Given the description of an element on the screen output the (x, y) to click on. 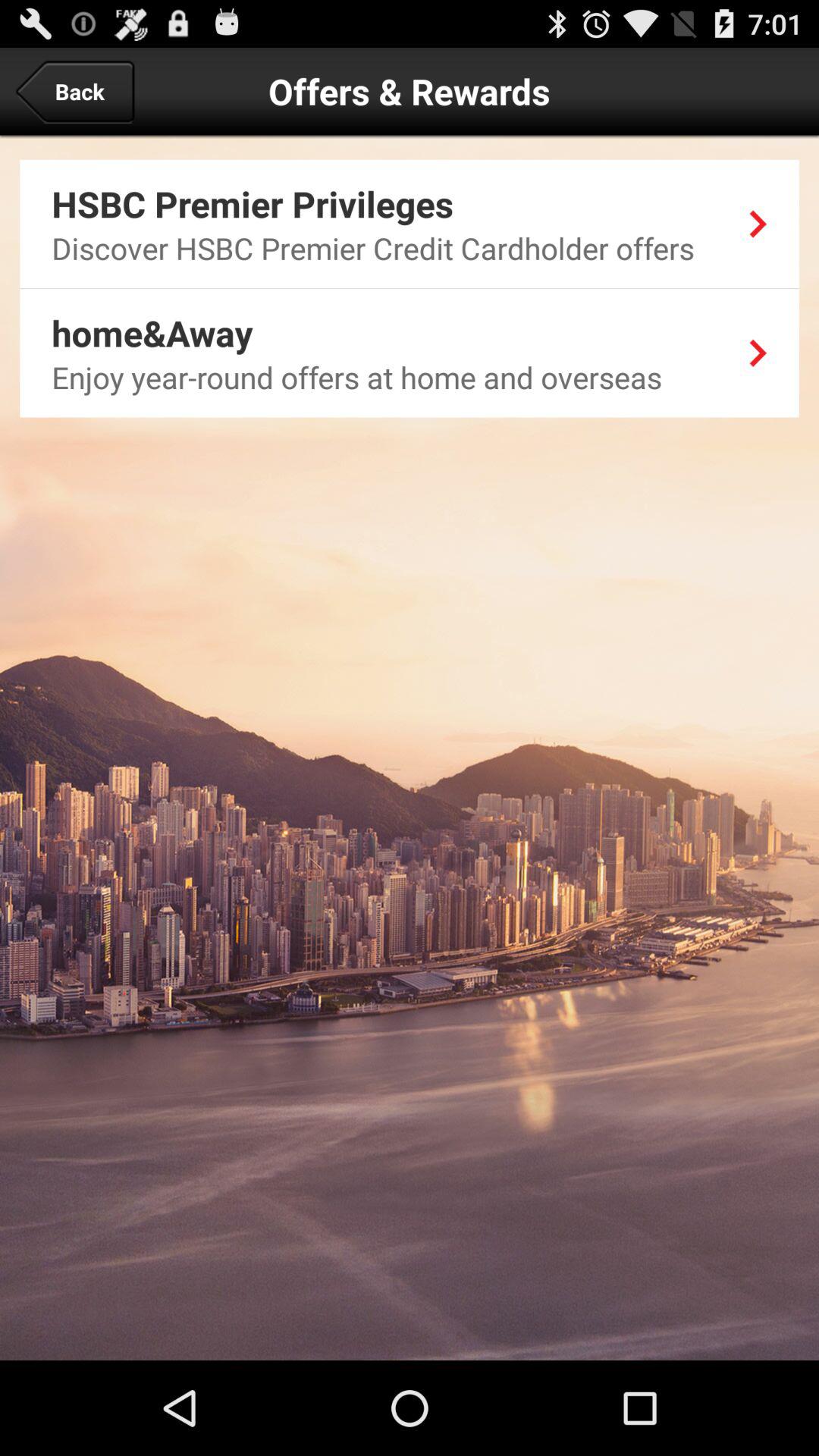
select back at the top left corner (73, 91)
